Given the description of an element on the screen output the (x, y) to click on. 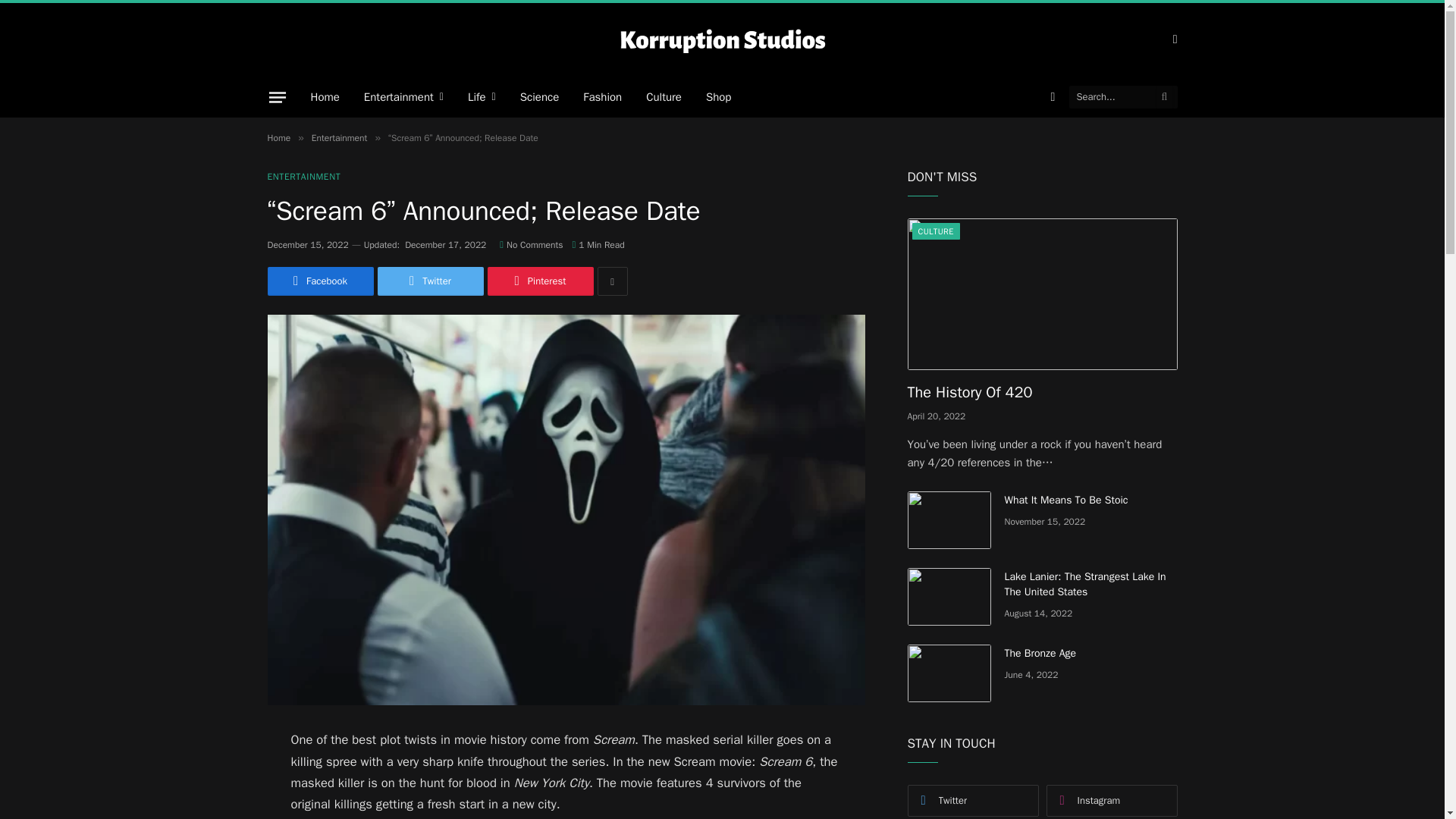
Entertainment (403, 96)
Korruption Studios (721, 39)
Home (325, 96)
Life (481, 96)
